Given the description of an element on the screen output the (x, y) to click on. 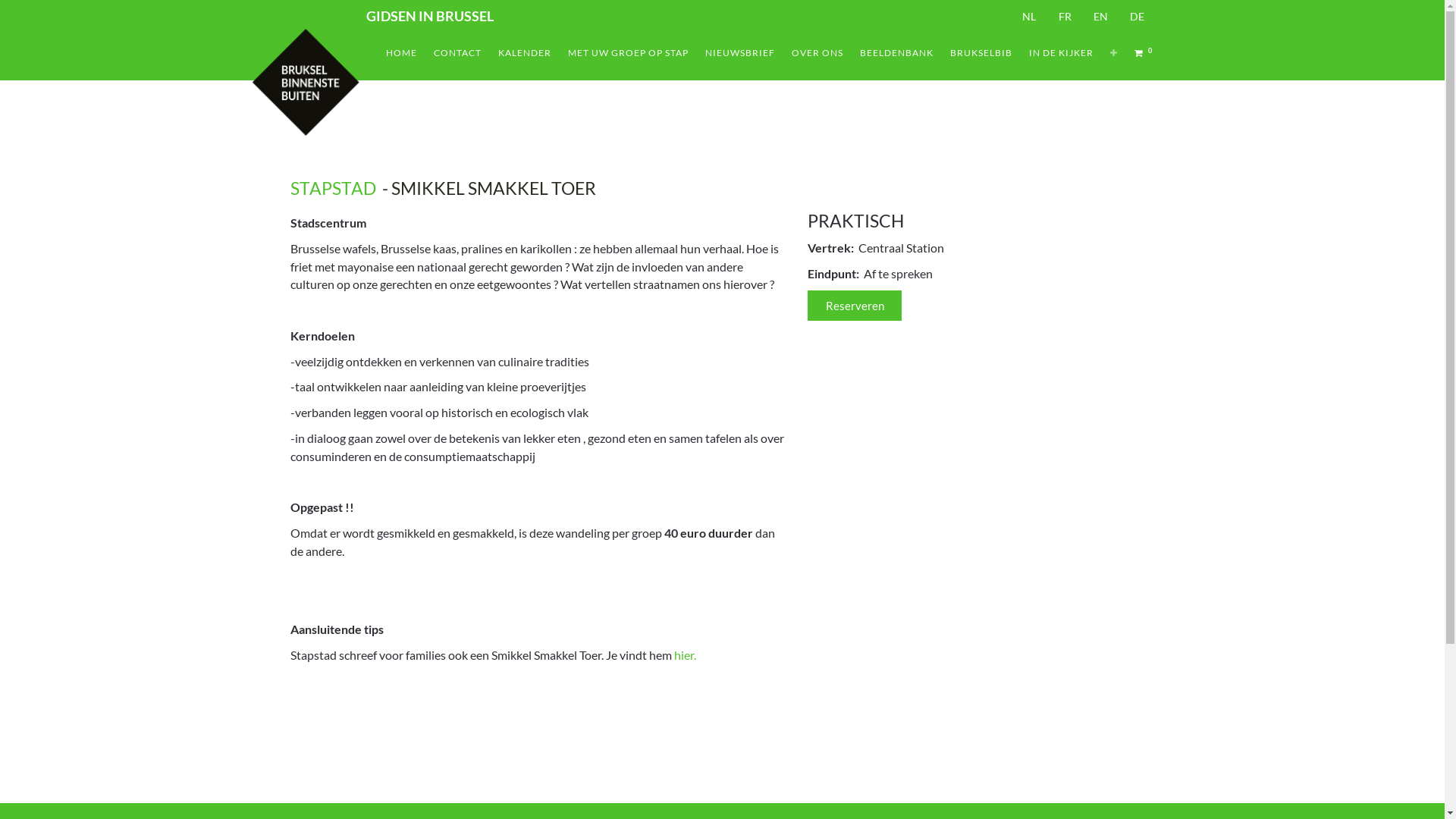
STAPSTAD Element type: text (332, 188)
Reserveren Element type: text (854, 305)
BRUKSELBIB Element type: text (981, 52)
CONTACT Element type: text (457, 52)
FR Element type: text (1064, 15)
IN DE KIJKER Element type: text (1060, 52)
NIEUWSBRIEF Element type: text (740, 52)
EN Element type: text (1100, 15)
KALENDER Element type: text (524, 52)
DE Element type: text (1136, 15)
  Element type: text (290, 774)
HOME Element type: text (401, 52)
BEELDENBANK Element type: text (896, 52)
  Element type: text (290, 680)
0 Element type: text (1144, 52)
OVER ONS Element type: text (817, 52)
MET UW GROEP OP STAP Element type: text (627, 52)
hier. Element type: text (684, 654)
NL Element type: text (1028, 15)
